Given the description of an element on the screen output the (x, y) to click on. 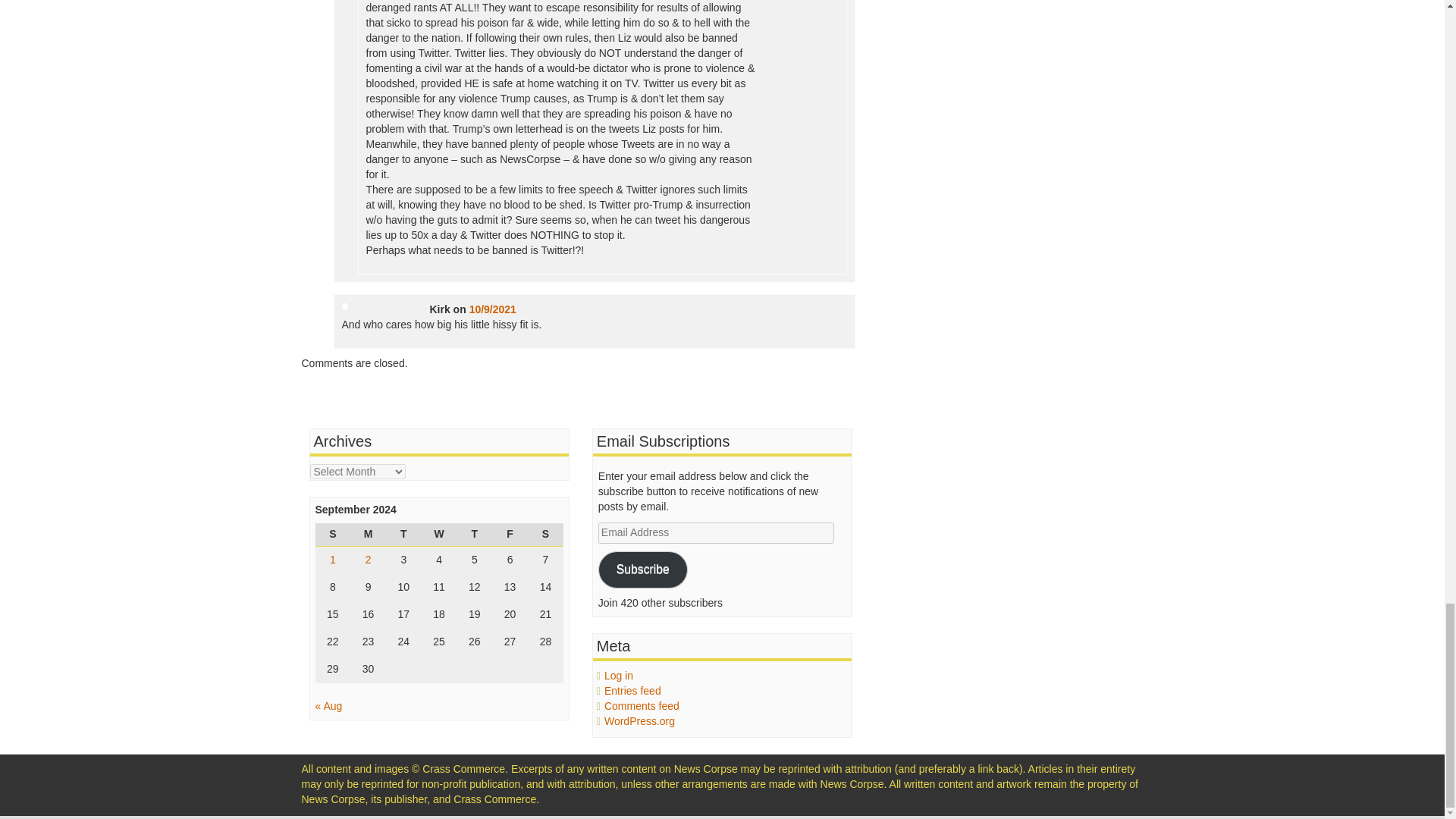
Thursday (474, 534)
Monday (367, 534)
Wednesday (439, 534)
Tuesday (403, 534)
Sunday (332, 534)
